Given the description of an element on the screen output the (x, y) to click on. 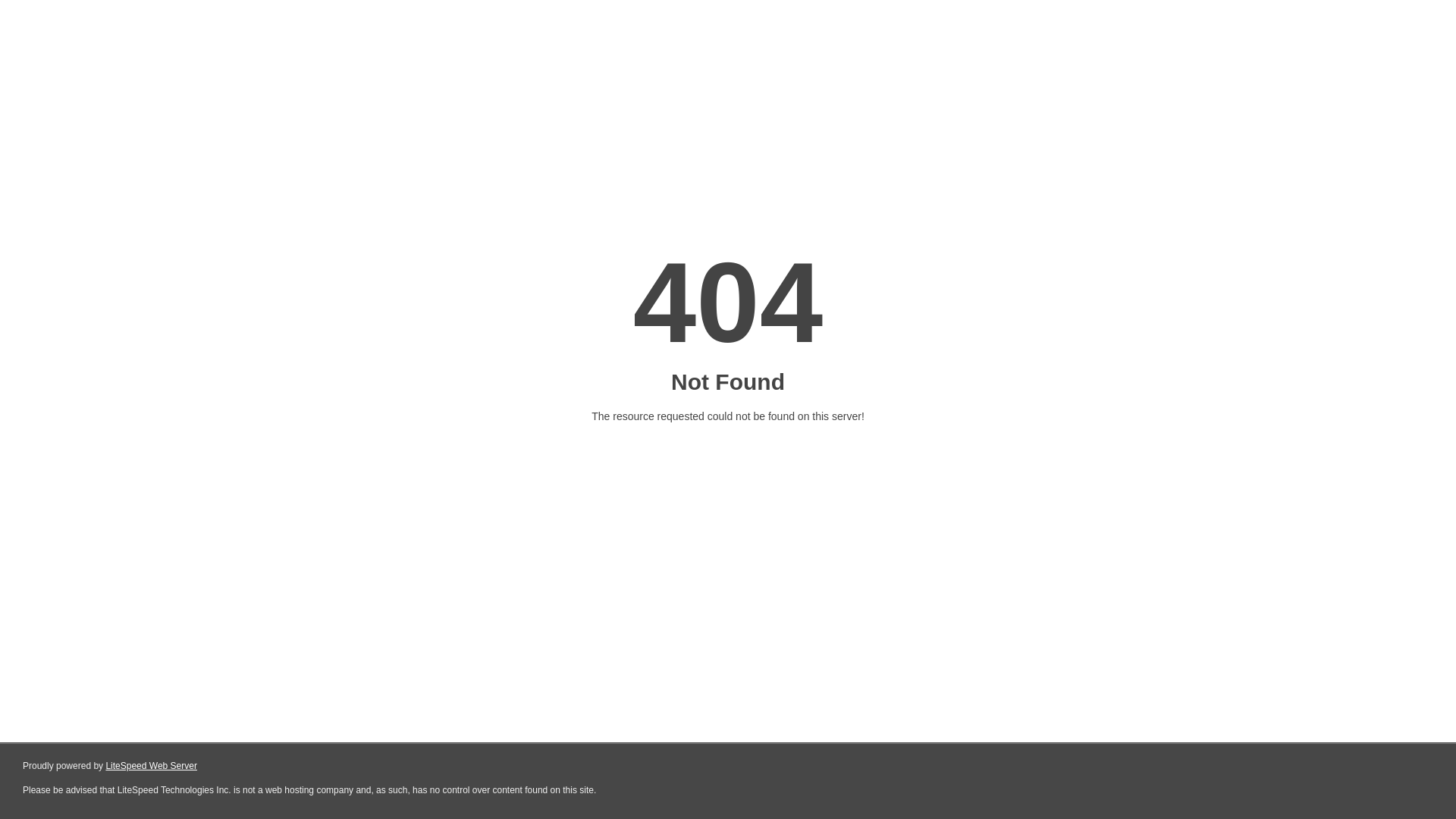
LiteSpeed Web Server Element type: text (151, 765)
